Given the description of an element on the screen output the (x, y) to click on. 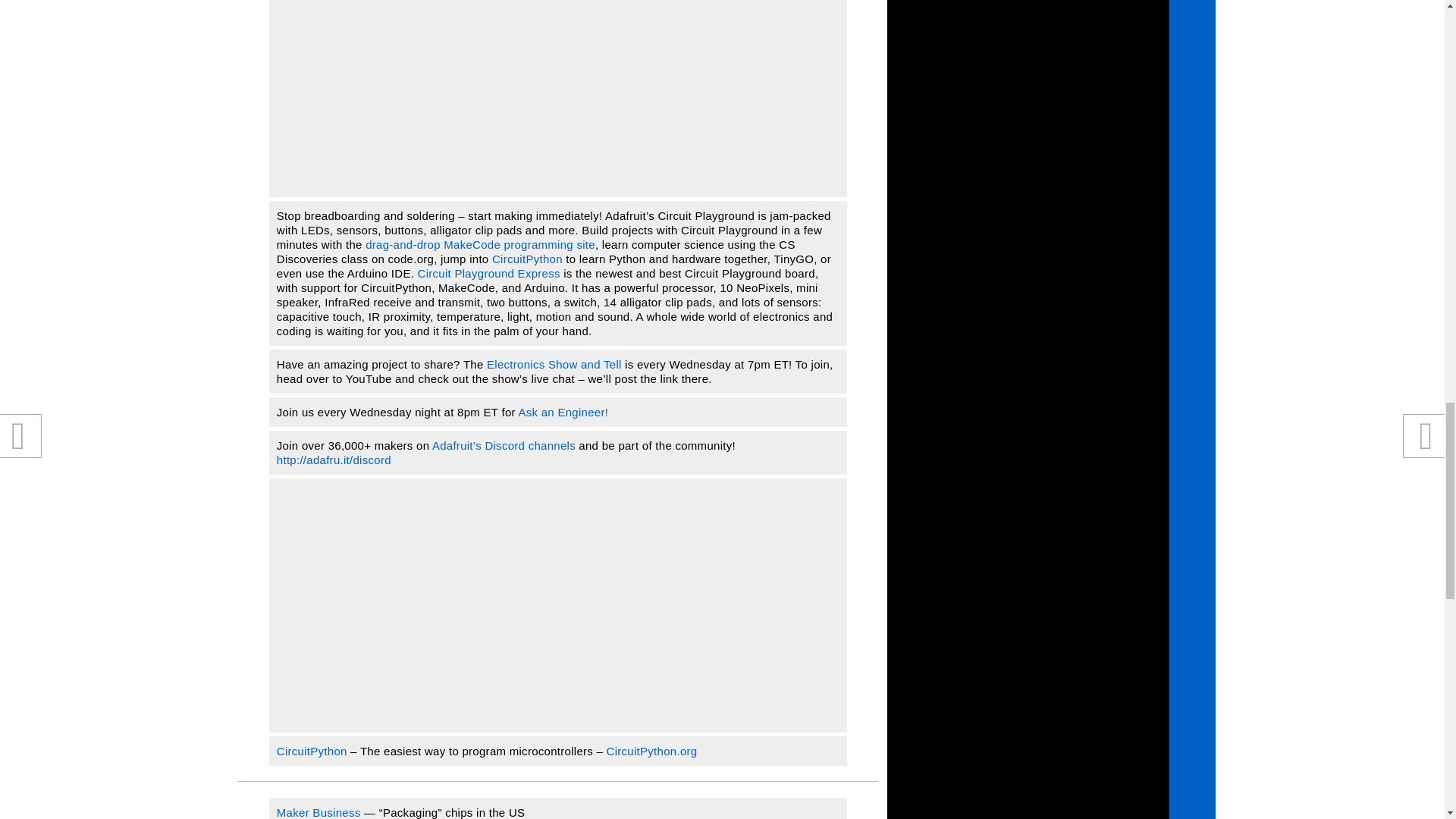
ASK AN ENGINEER (563, 411)
